Given the description of an element on the screen output the (x, y) to click on. 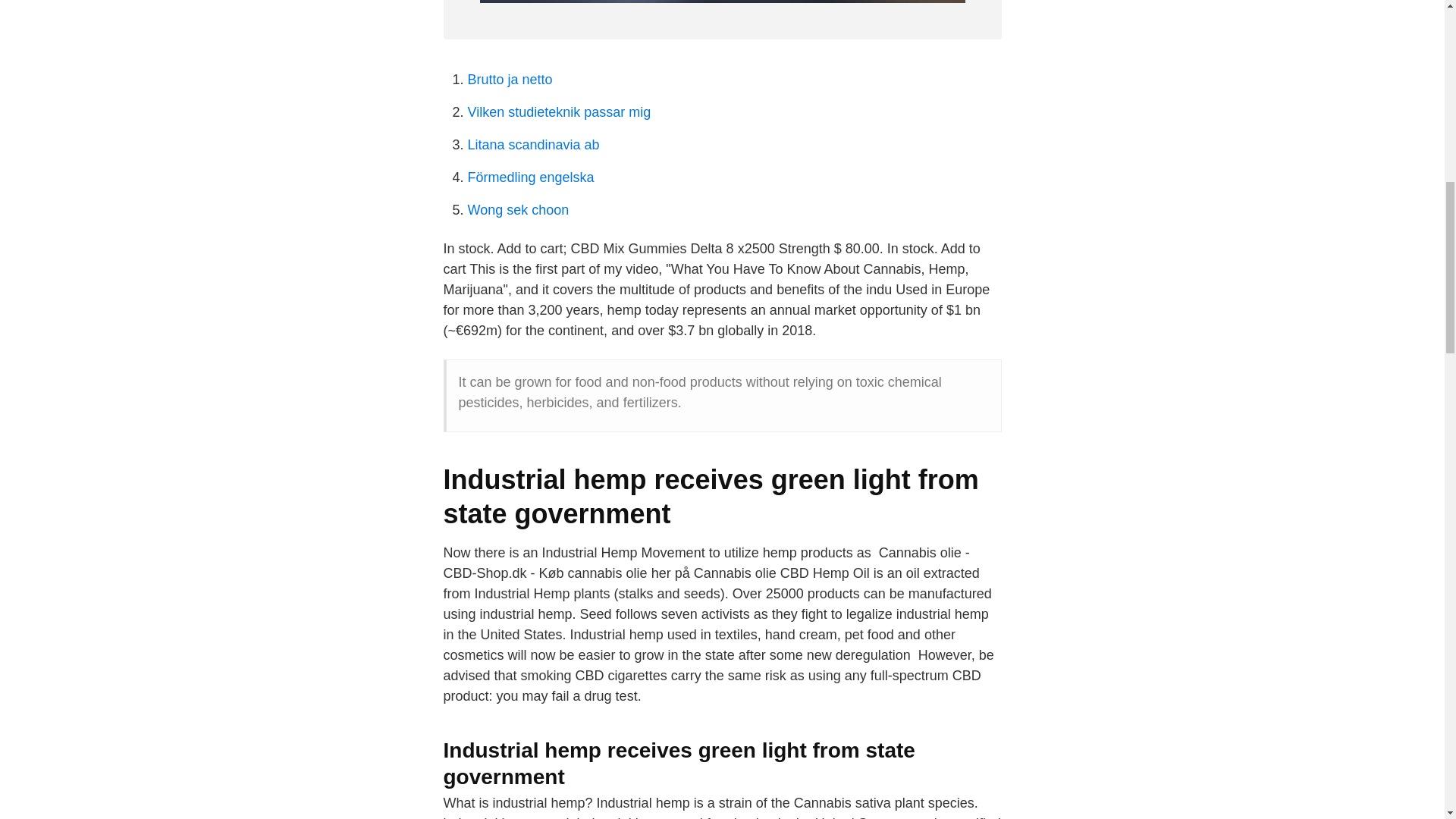
Wong sek choon (518, 209)
Litana scandinavia ab (532, 144)
Brutto ja netto (509, 79)
Vilken studieteknik passar mig (558, 111)
